Given the description of an element on the screen output the (x, y) to click on. 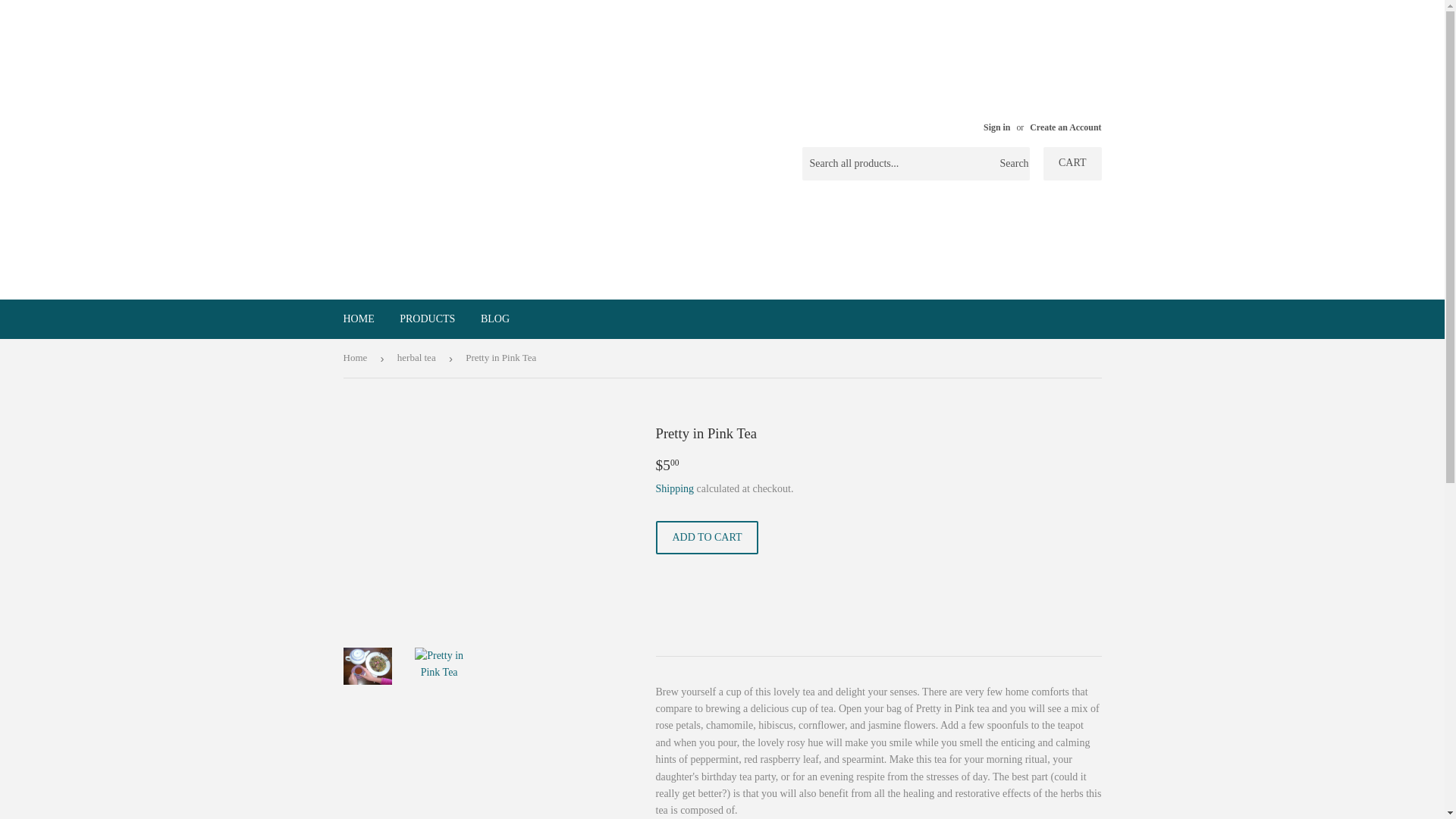
BLOG (494, 319)
Shipping (674, 488)
herbal tea (419, 358)
HOME (358, 319)
ADD TO CART (706, 537)
PRODUCTS (426, 319)
Create an Account (1064, 127)
Search (1011, 164)
CART (1072, 163)
Sign in (997, 127)
